Given the description of an element on the screen output the (x, y) to click on. 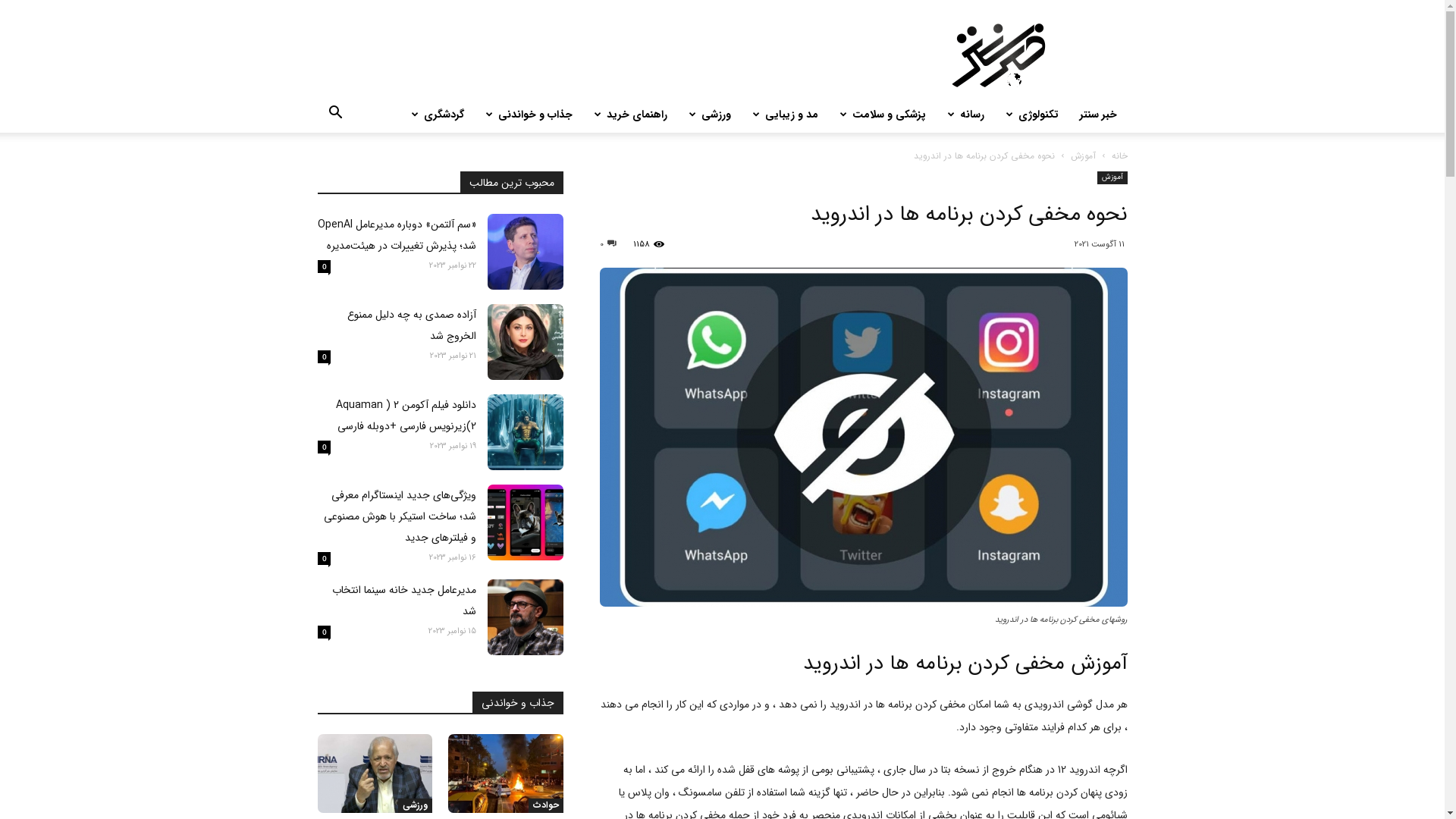
0 Element type: text (322, 446)
0 Element type: text (322, 266)
0 Element type: text (322, 631)
0 Element type: text (322, 558)
0 Element type: text (322, 356)
0 Element type: text (607, 244)
